Given the description of an element on the screen output the (x, y) to click on. 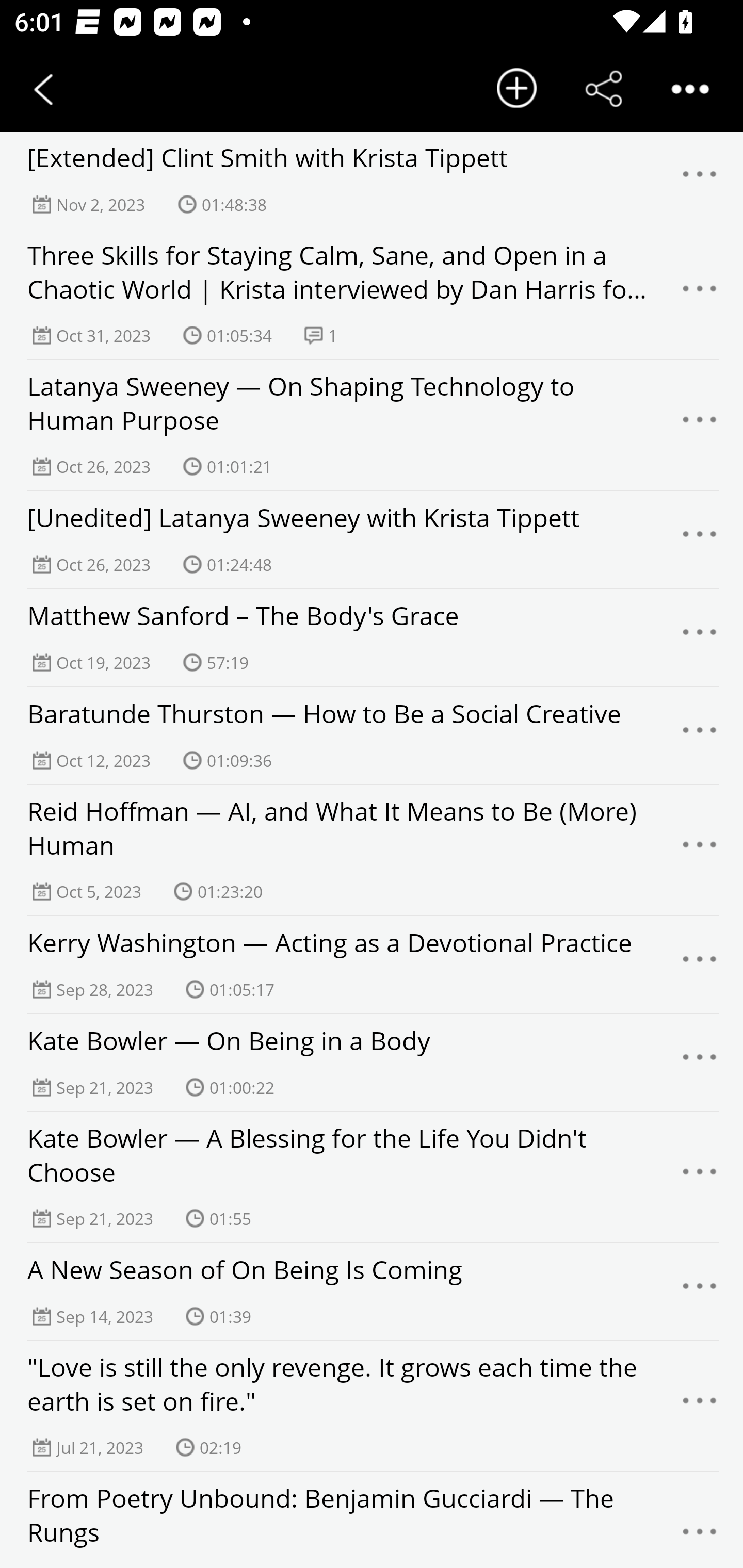
Back (43, 88)
Menu (699, 179)
Menu (699, 293)
Menu (699, 424)
Menu (699, 539)
Menu (699, 637)
Menu (699, 735)
Menu (699, 849)
Menu (699, 964)
Menu (699, 1062)
Menu (699, 1176)
Menu (699, 1291)
Menu (699, 1405)
Menu (699, 1531)
